Given the description of an element on the screen output the (x, y) to click on. 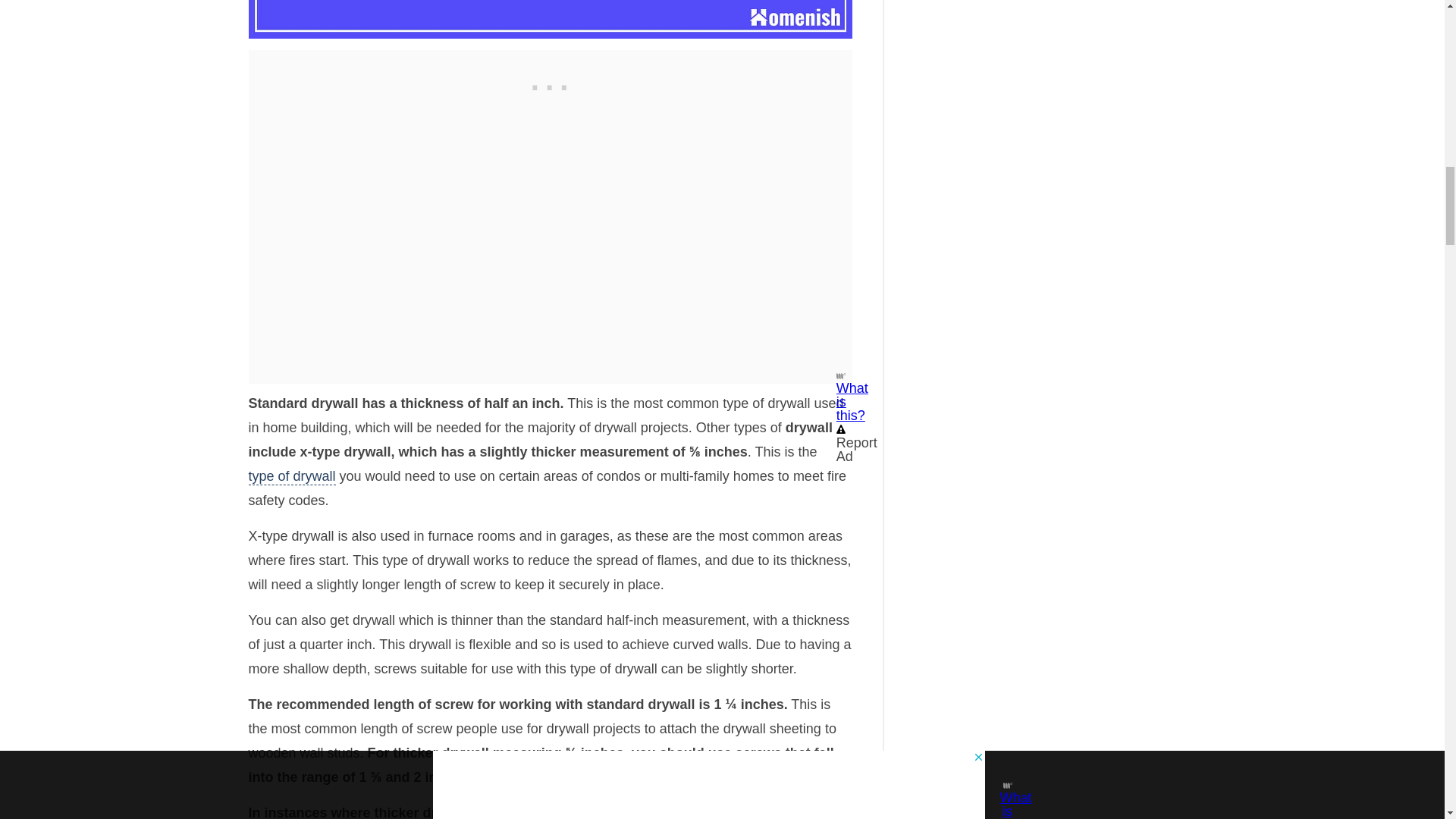
3rd party ad content (551, 83)
